Given the description of an element on the screen output the (x, y) to click on. 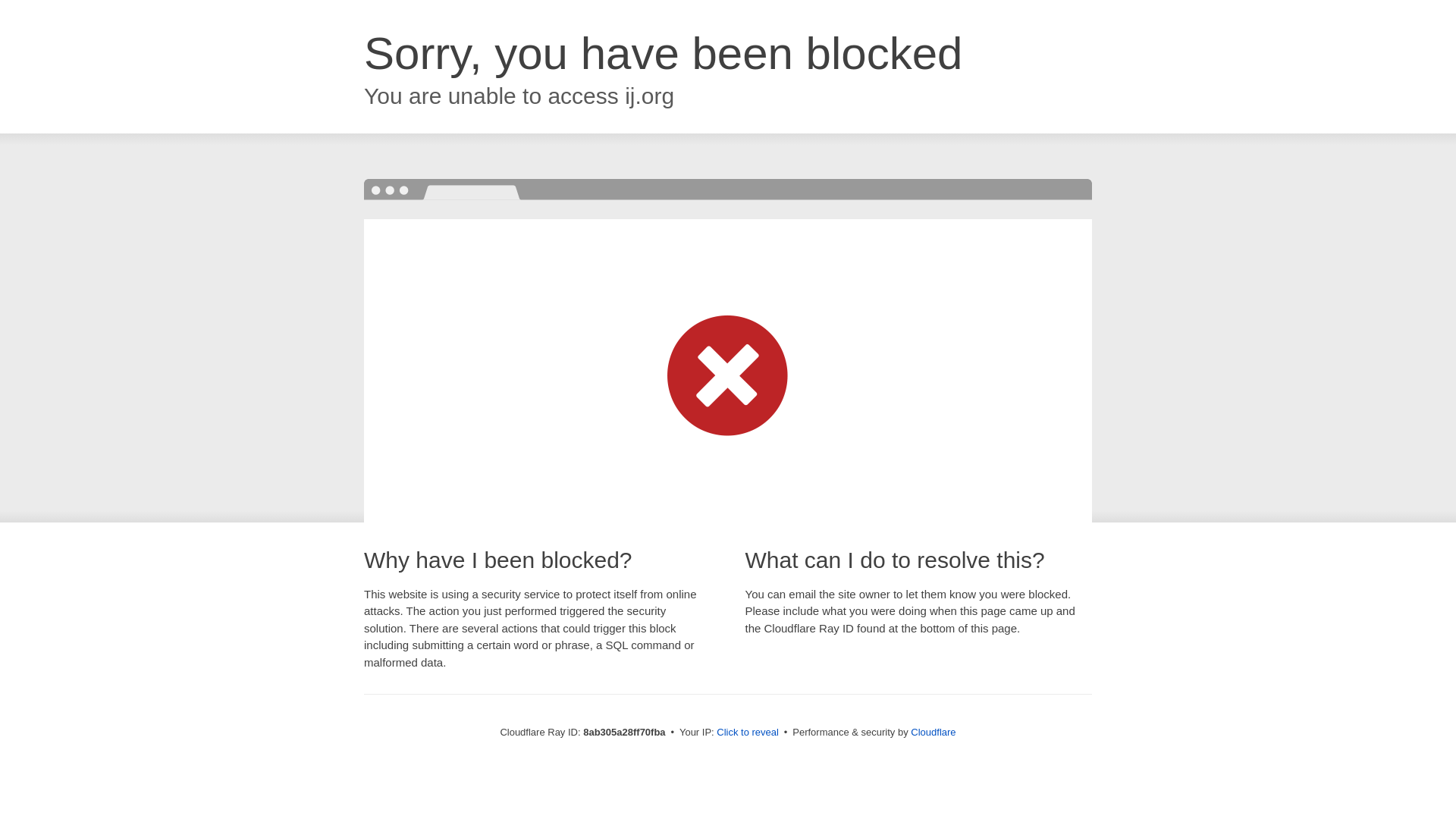
Click to reveal (747, 732)
Cloudflare (933, 731)
